Given the description of an element on the screen output the (x, y) to click on. 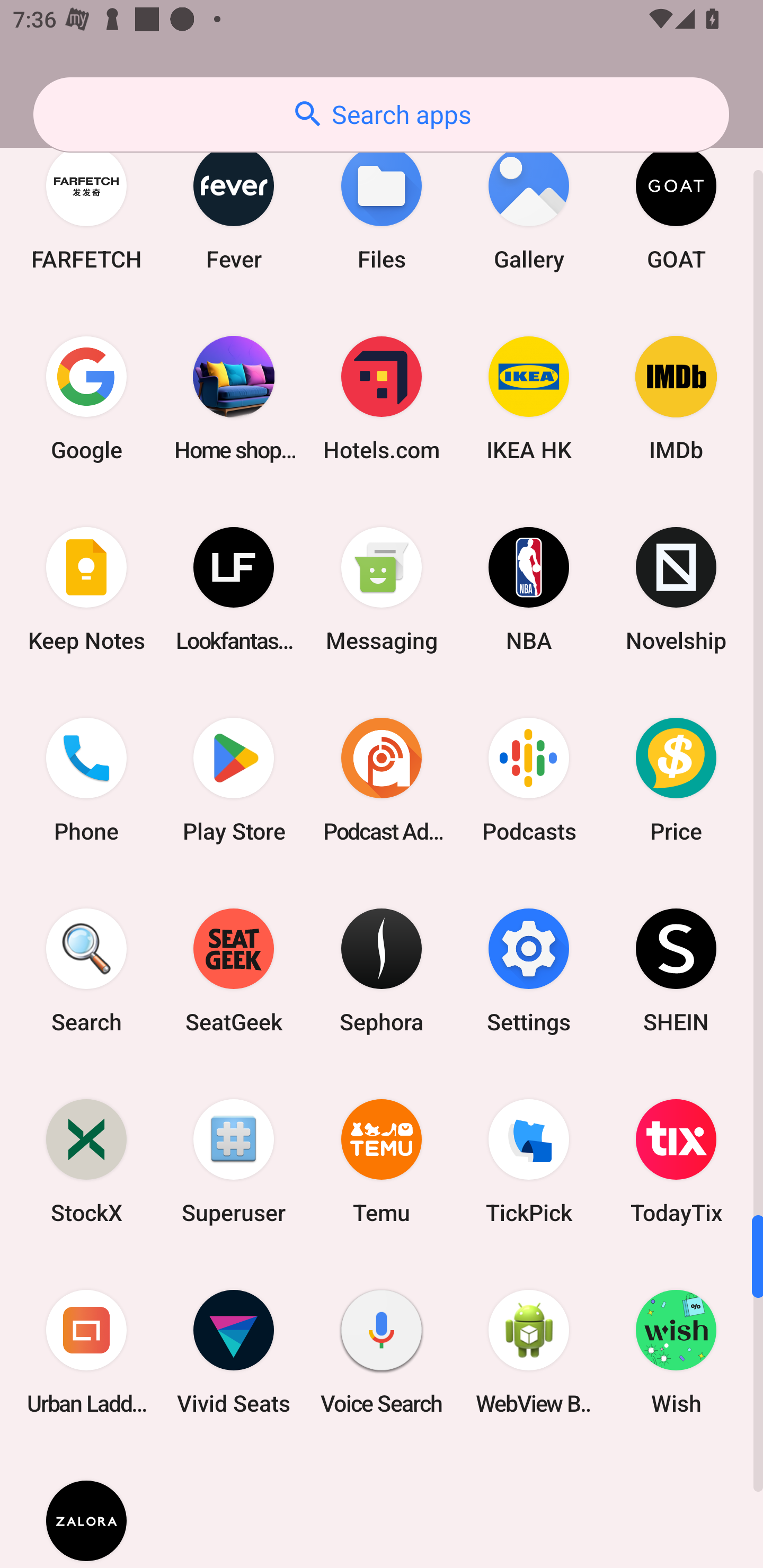
  Search apps (381, 114)
FARFETCH (86, 207)
Fever (233, 207)
Files (381, 207)
Gallery (528, 207)
GOAT (676, 207)
Google (86, 397)
Home shopping (233, 397)
Hotels.com (381, 397)
IKEA HK (528, 397)
IMDb (676, 397)
Keep Notes (86, 588)
Lookfantastic (233, 588)
Messaging (381, 588)
NBA (528, 588)
Novelship (676, 588)
Phone (86, 778)
Play Store (233, 778)
Podcast Addict (381, 778)
Podcasts (528, 778)
Price (676, 778)
Search (86, 970)
SeatGeek (233, 970)
Sephora (381, 970)
Settings (528, 970)
SHEIN (676, 970)
StockX (86, 1160)
Superuser (233, 1160)
Temu (381, 1160)
TickPick (528, 1160)
TodayTix (676, 1160)
Urban Ladder (86, 1351)
Vivid Seats (233, 1351)
Voice Search (381, 1351)
WebView Browser Tester (528, 1351)
Wish (676, 1351)
ZALORA (86, 1507)
